Given the description of an element on the screen output the (x, y) to click on. 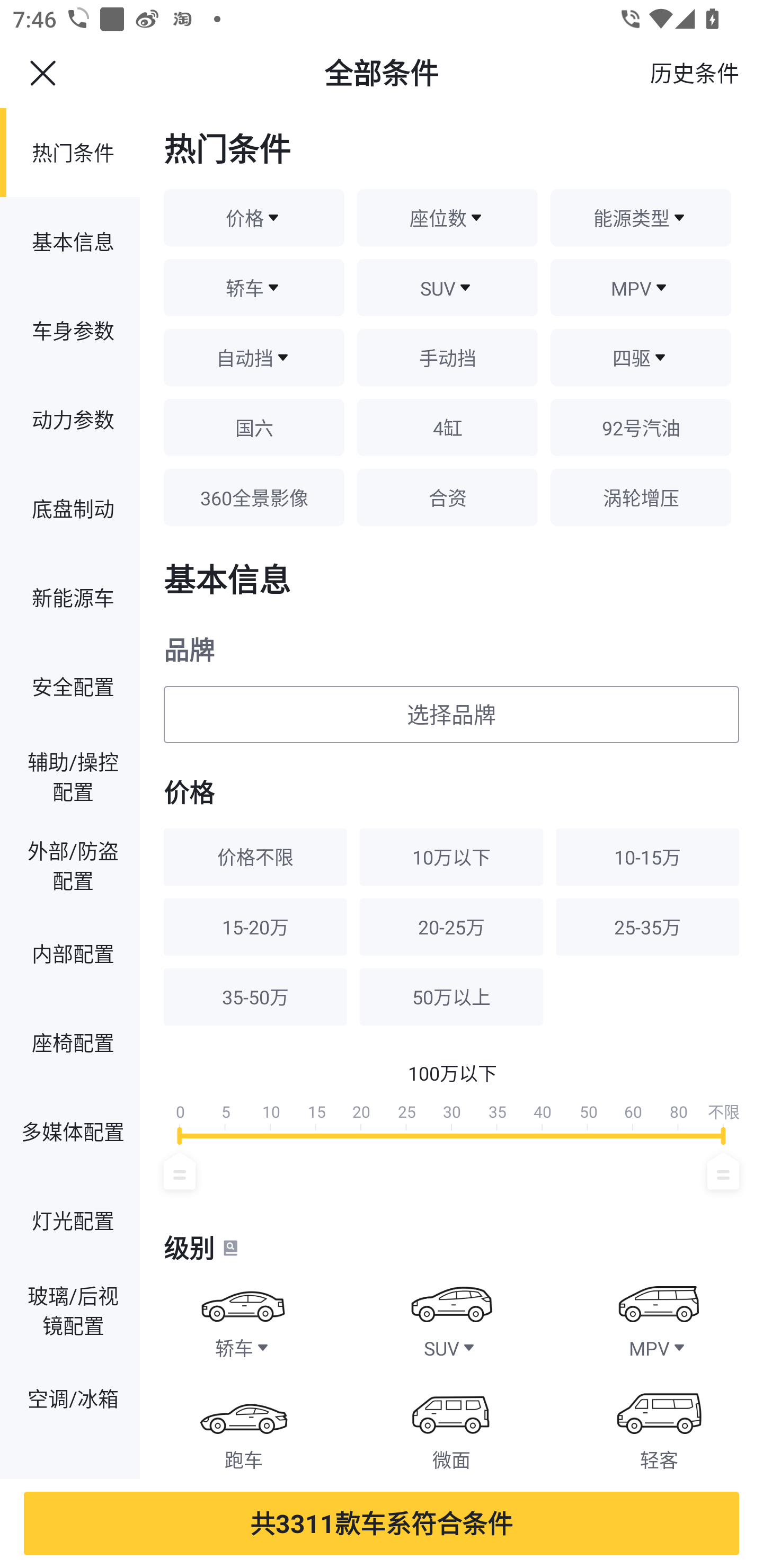
历史条件 (694, 72)
热门条件 (69, 152)
价格 (254, 217)
座位数 (447, 217)
能源类型 (640, 217)
基本信息 (69, 241)
轿车 (254, 287)
SUV (447, 287)
MPV (640, 287)
车身参数 (69, 329)
自动挡 (254, 357)
手动挡 (447, 357)
四驱 (640, 357)
动力参数 (69, 419)
国六 (254, 427)
4缸 (447, 427)
92号汽油 (640, 427)
底盘制动 (69, 508)
360全景影像 (254, 496)
合资 (447, 496)
涡轮增压 (640, 496)
新能源车 (69, 597)
安全配置 (69, 685)
选择品牌 (451, 714)
辅助/操控配置 (69, 775)
外部/防盗配置 (69, 864)
价格不限 (255, 856)
10万以下 (451, 856)
10-15万 (647, 856)
15-20万 (255, 926)
20-25万 (451, 926)
25-35万 (647, 926)
内部配置 (69, 953)
35-50万 (255, 997)
50万以上 (451, 997)
座椅配置 (69, 1041)
多媒体配置 (69, 1131)
灯光配置 (69, 1220)
玻璃/后视镜配置 (69, 1309)
轿车 (243, 1313)
SUV (451, 1313)
MPV (659, 1313)
空调/冰箱 (69, 1398)
跑车 (243, 1424)
微面 (451, 1424)
轻客 (659, 1424)
共3311款车系符合条件 (381, 1523)
